Given the description of an element on the screen output the (x, y) to click on. 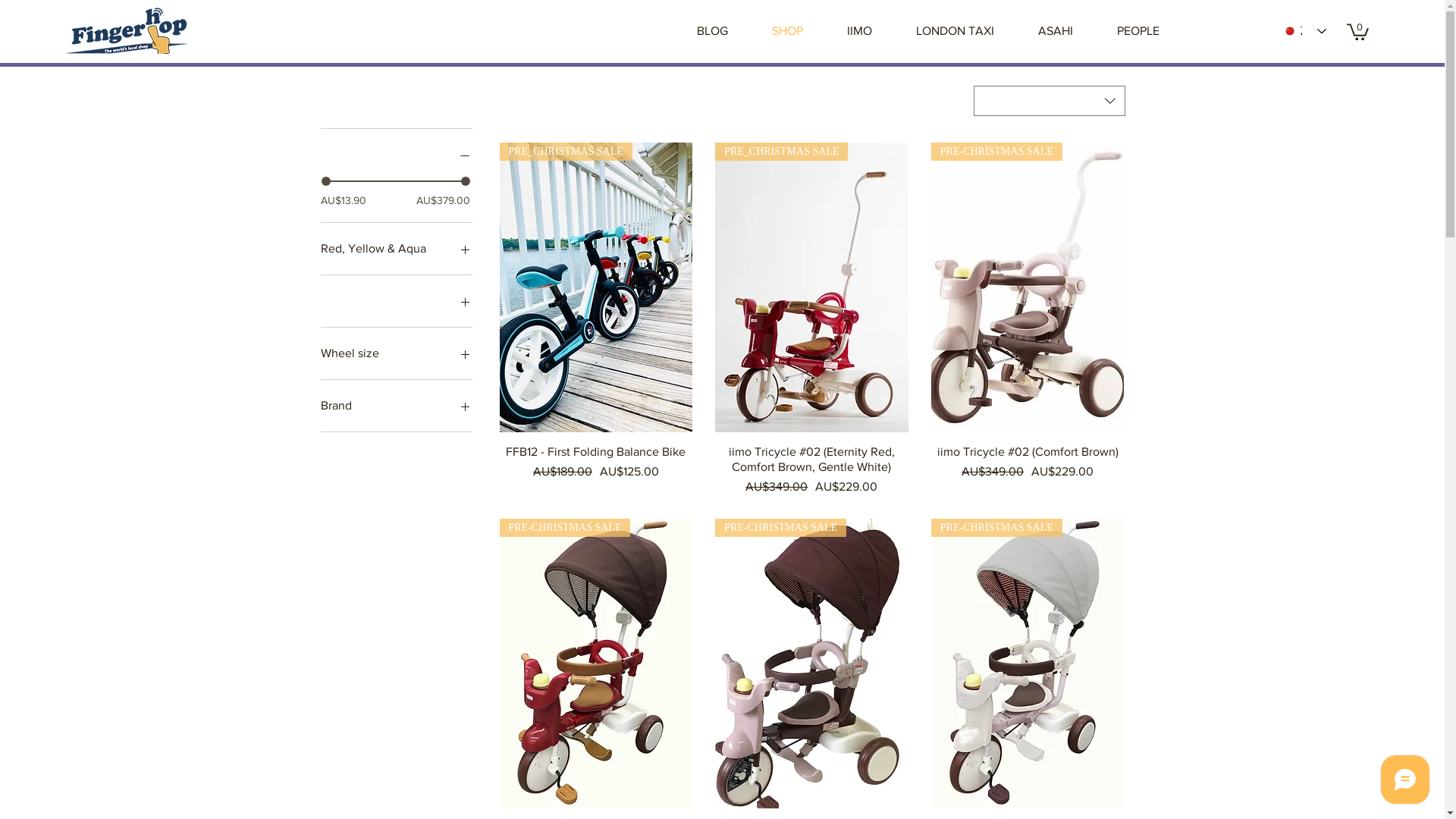
PRE_CHRISTMAS SALE Element type: text (811, 287)
Wheel size Element type: text (395, 353)
PRE-CHRISTMAS SALE Element type: text (1027, 287)
PRE-CHRISTMAS SALE Element type: text (595, 663)
SHOP Element type: text (787, 30)
Red, Yellow & Aqua Element type: text (395, 248)
LONDON TAXI Element type: text (955, 30)
PRE-CHRISTMAS SALE Element type: text (1027, 663)
ASAHI Element type: text (1055, 30)
BLOG Element type: text (711, 30)
Brand Element type: text (395, 405)
0 Element type: text (1357, 30)
PRE_CHRISTMAS SALE Element type: text (595, 287)
PEOPLE Element type: text (1138, 30)
PRE-CHRISTMAS SALE Element type: text (811, 663)
IIMO Element type: text (859, 30)
